Given the description of an element on the screen output the (x, y) to click on. 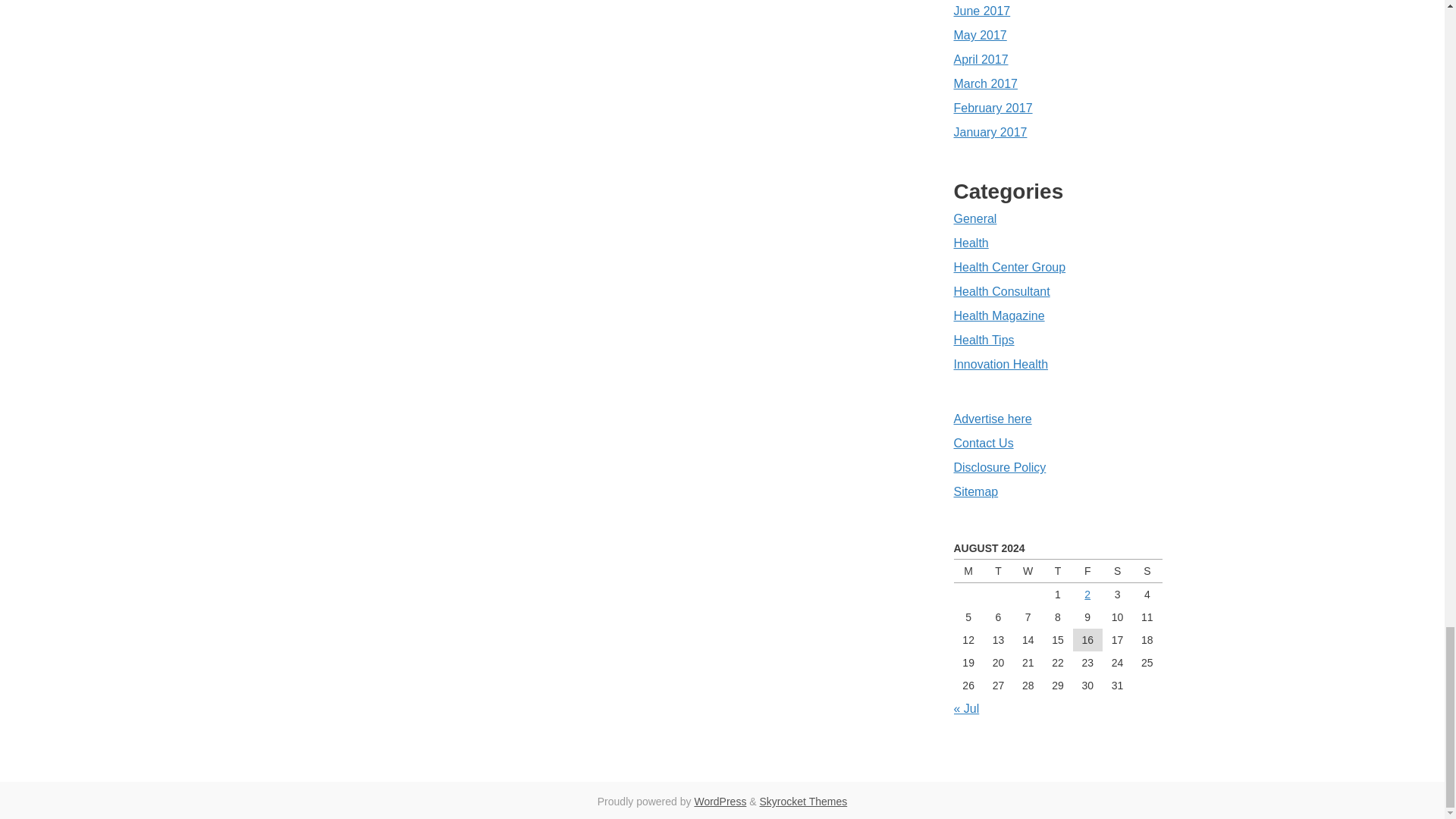
Saturday (1117, 571)
Tuesday (998, 571)
Friday (1087, 571)
Skyrocket Themes (803, 801)
Sunday (1146, 571)
Semantic Personal Publishing Platform (719, 801)
Monday (968, 571)
Wednesday (1027, 571)
Thursday (1056, 571)
